Given the description of an element on the screen output the (x, y) to click on. 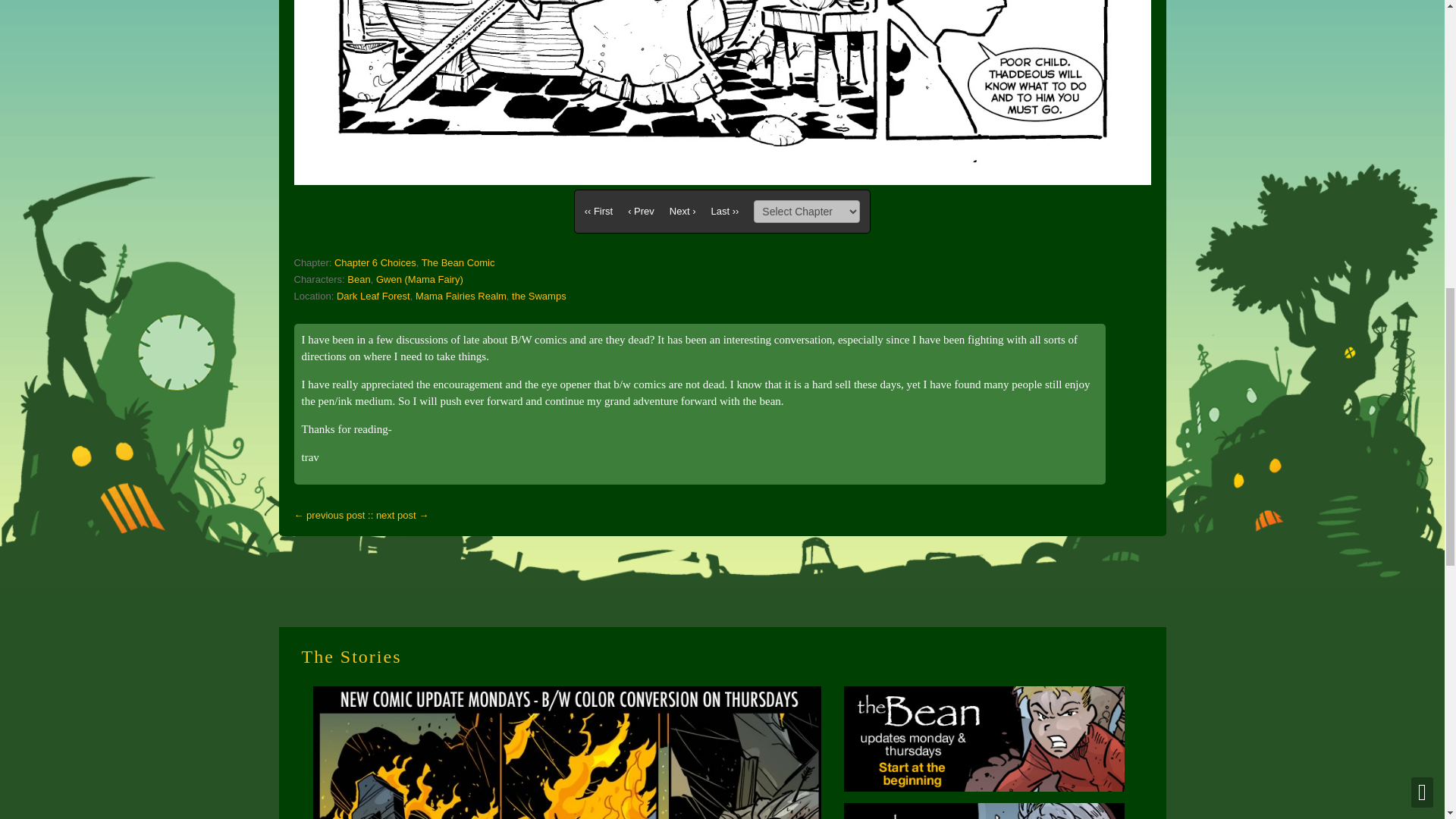
Bean (358, 279)
Chapter 6 Choices (375, 262)
The Bean Comic (458, 262)
the Swamps (539, 296)
Dark Leaf Forest (373, 296)
Mama Fairies Realm (460, 296)
